Given the description of an element on the screen output the (x, y) to click on. 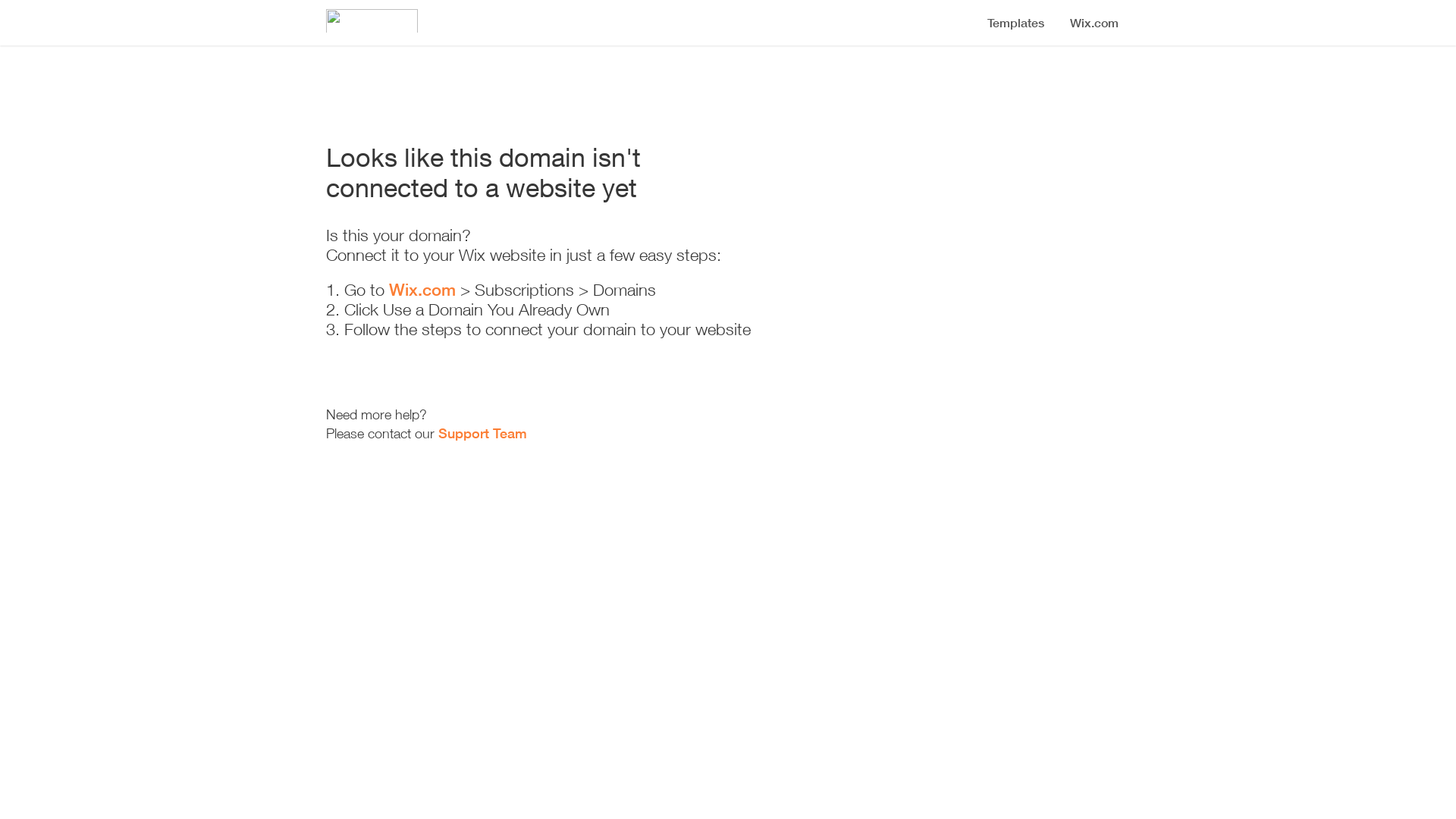
Wix.com Element type: text (422, 289)
Support Team Element type: text (482, 432)
